Given the description of an element on the screen output the (x, y) to click on. 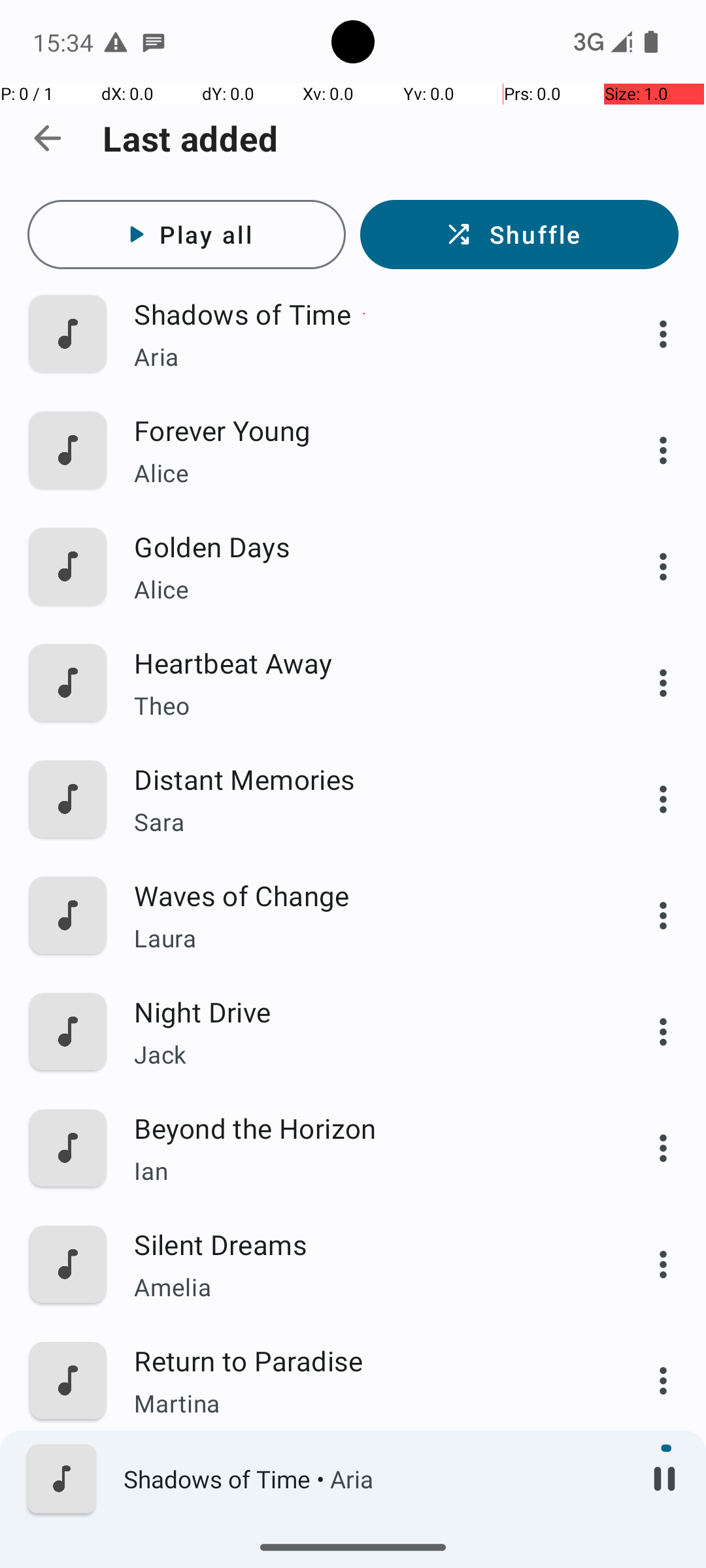
Last added Element type: android.widget.TextView (190, 137)
Shadows of Time • Aria Element type: android.widget.TextView (372, 1478)
Play all Element type: android.widget.Button (186, 234)
Shuffle Element type: android.widget.Button (519, 234)
Shadows of Time Element type: android.widget.TextView (363, 313)
Aria Element type: android.widget.TextView (363, 356)
Forever Young Element type: android.widget.TextView (363, 429)
Alice Element type: android.widget.TextView (363, 472)
Golden Days Element type: android.widget.TextView (363, 546)
Heartbeat Away Element type: android.widget.TextView (363, 662)
Theo Element type: android.widget.TextView (363, 704)
Distant Memories Element type: android.widget.TextView (363, 778)
Sara Element type: android.widget.TextView (363, 821)
Waves of Change Element type: android.widget.TextView (363, 895)
Laura Element type: android.widget.TextView (363, 937)
Night Drive Element type: android.widget.TextView (363, 1011)
Jack Element type: android.widget.TextView (363, 1053)
Beyond the Horizon Element type: android.widget.TextView (363, 1127)
Ian Element type: android.widget.TextView (363, 1170)
Silent Dreams Element type: android.widget.TextView (363, 1243)
Amelia Element type: android.widget.TextView (363, 1286)
Return to Paradise Element type: android.widget.TextView (363, 1360)
Martina Element type: android.widget.TextView (363, 1402)
Path to Zenith Element type: android.widget.TextView (363, 1476)
Henry Element type: android.widget.TextView (363, 1518)
